Given the description of an element on the screen output the (x, y) to click on. 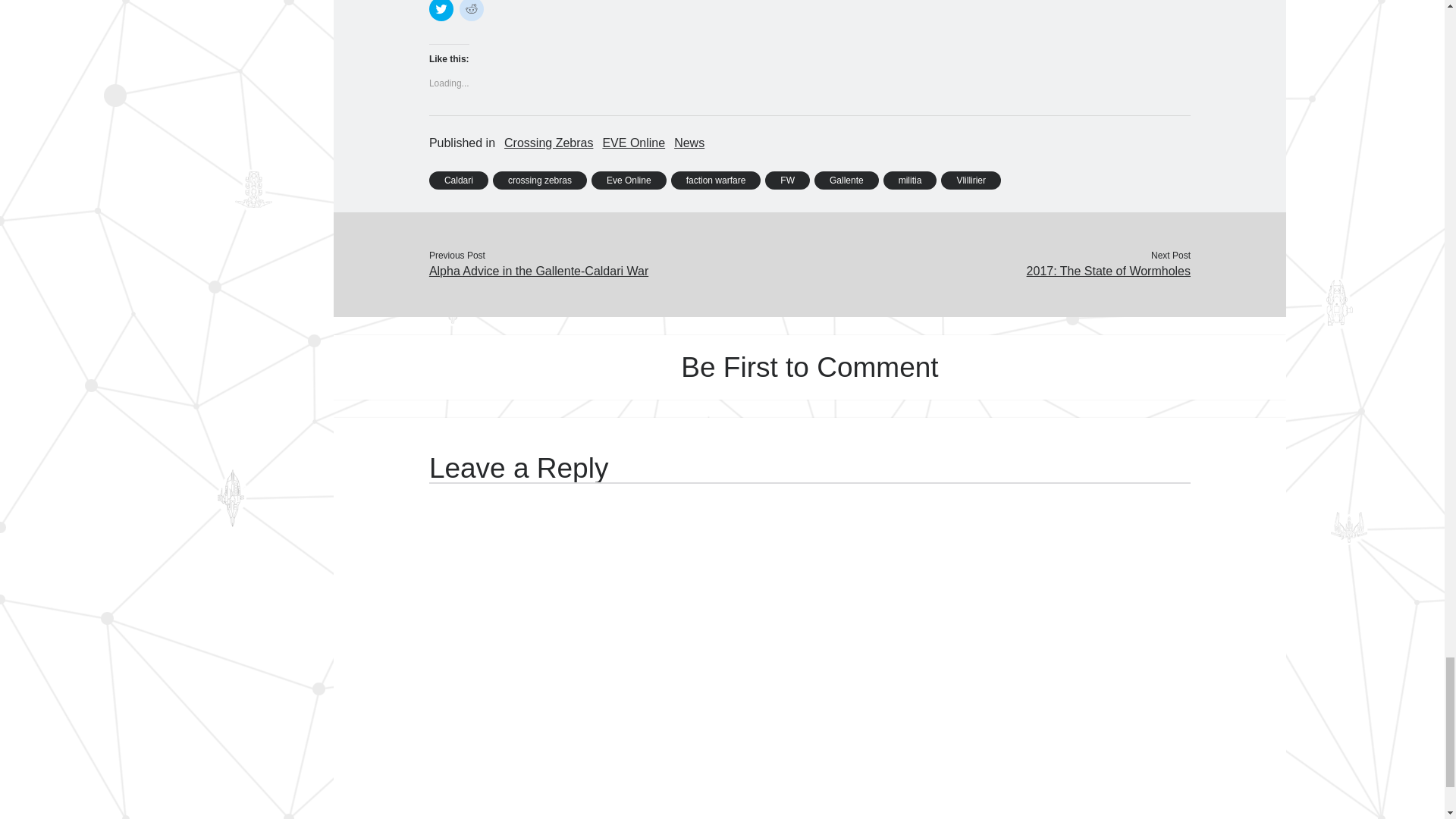
View all posts tagged faction warfare (716, 180)
View all posts tagged Vlillirier (970, 180)
View all posts tagged Eve Online (628, 180)
View all posts in EVE Online (633, 143)
View all posts tagged FW (787, 180)
View all posts tagged Gallente (846, 180)
Click to share on Twitter (440, 10)
View all posts tagged crossing zebras (539, 180)
View all posts in News (689, 143)
View all posts tagged militia (910, 180)
View all posts in Crossing Zebras (547, 143)
View all posts tagged Caldari (458, 180)
Click to share on Reddit (471, 10)
